Given the description of an element on the screen output the (x, y) to click on. 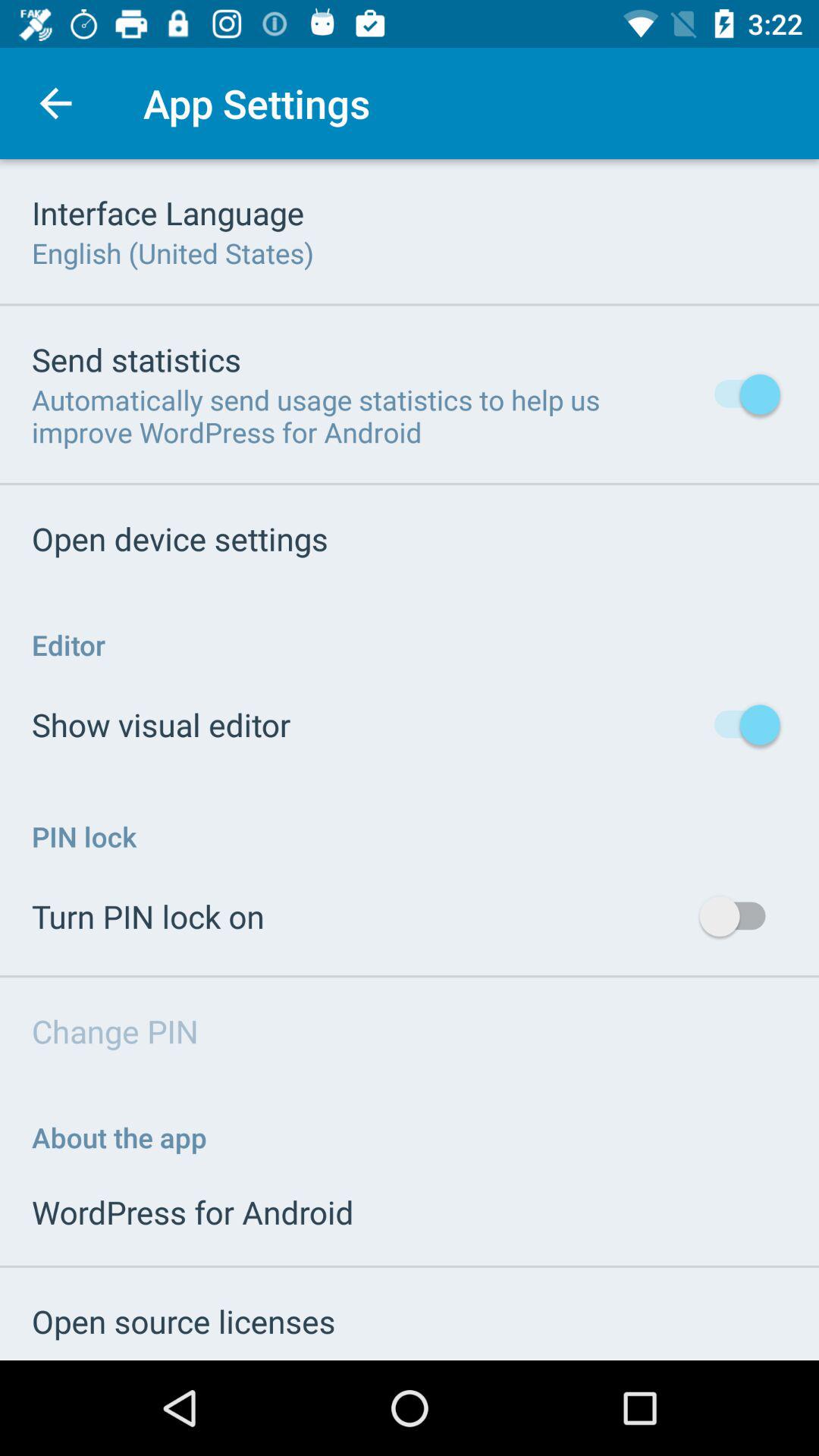
choose item above the editor icon (179, 538)
